Given the description of an element on the screen output the (x, y) to click on. 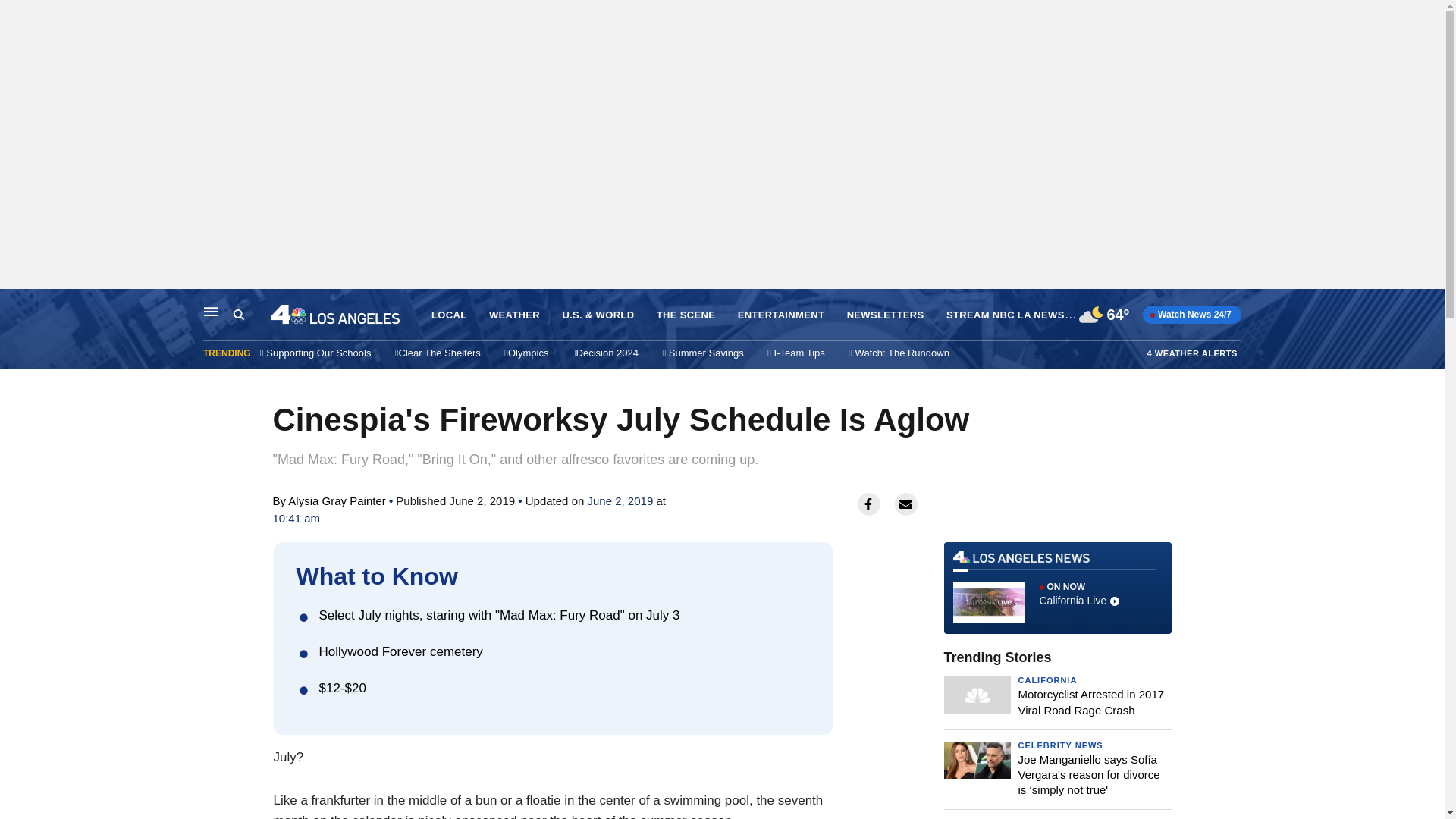
Search (238, 314)
THE SCENE (685, 315)
4 WEATHER ALERTS (1192, 352)
Search (1056, 587)
Main Navigation (252, 314)
ENTERTAINMENT (210, 311)
CALIFORNIA (781, 315)
Motorcyclist Arrested in 2017 Viral Road Rage Crash (1047, 679)
WEATHER (1090, 701)
LOCAL (514, 315)
Skip to content (447, 315)
NEWSLETTERS (16, 304)
